Given the description of an element on the screen output the (x, y) to click on. 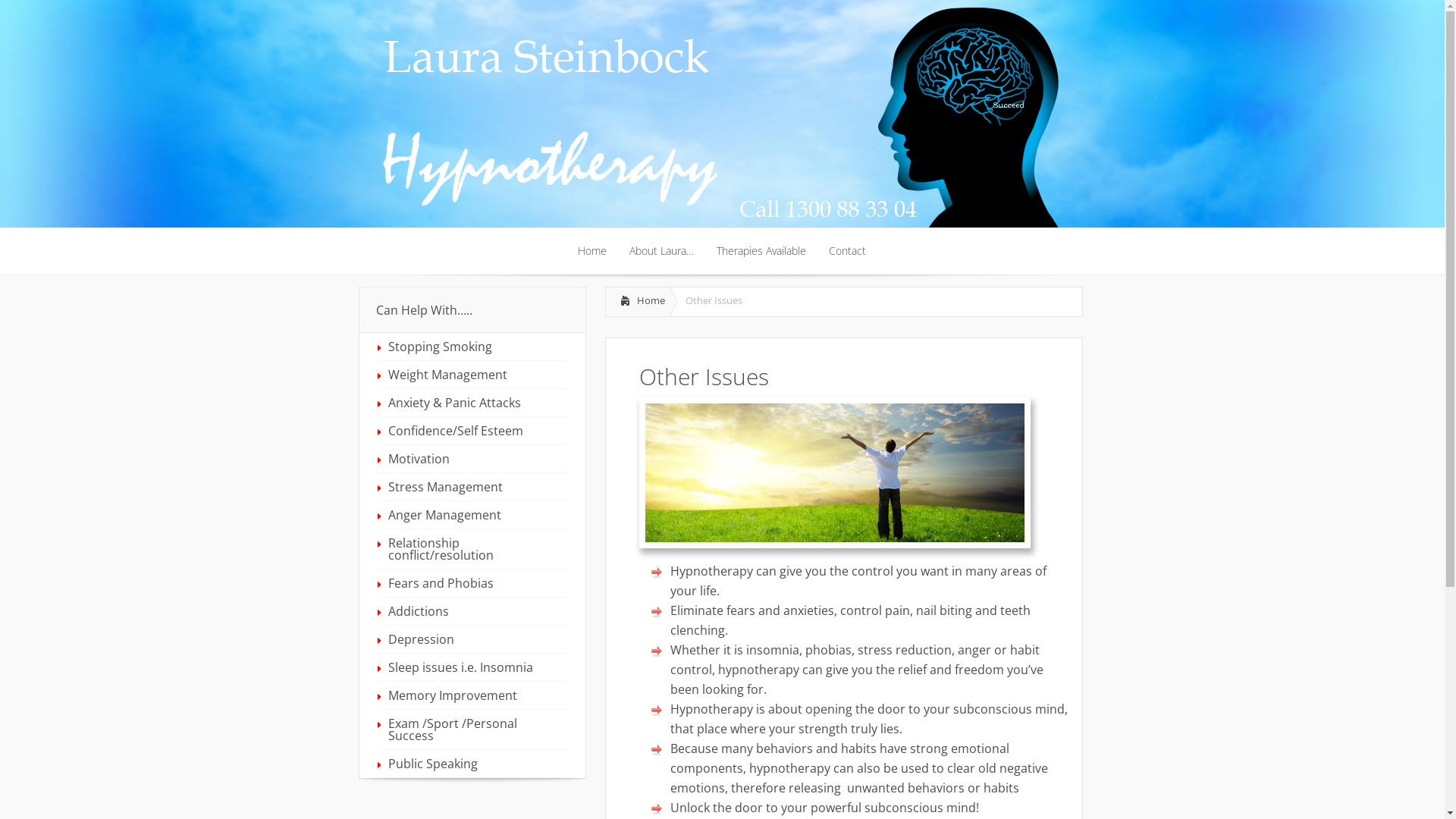
Home Element type: text (637, 301)
Confidence/Self Esteem Element type: text (472, 430)
Exam /Sport /Personal Success Element type: text (472, 729)
Addictions Element type: text (472, 610)
Motivation Element type: text (472, 458)
Memory Improvement Element type: text (472, 695)
Depression Element type: text (472, 638)
Weight Management Element type: text (472, 374)
Anxiety & Panic Attacks Element type: text (472, 402)
Relationship conflict/resolution Element type: text (472, 548)
Fears and Phobias Element type: text (472, 582)
Contact Element type: text (847, 251)
Stress Management Element type: text (472, 486)
Public Speaking Element type: text (472, 763)
Sleep issues i.e. Insomnia Element type: text (472, 666)
Stopping Smoking Element type: text (472, 346)
Home Element type: text (592, 251)
Anger Management Element type: text (472, 514)
Therapies Available Element type: text (761, 251)
